Given the description of an element on the screen output the (x, y) to click on. 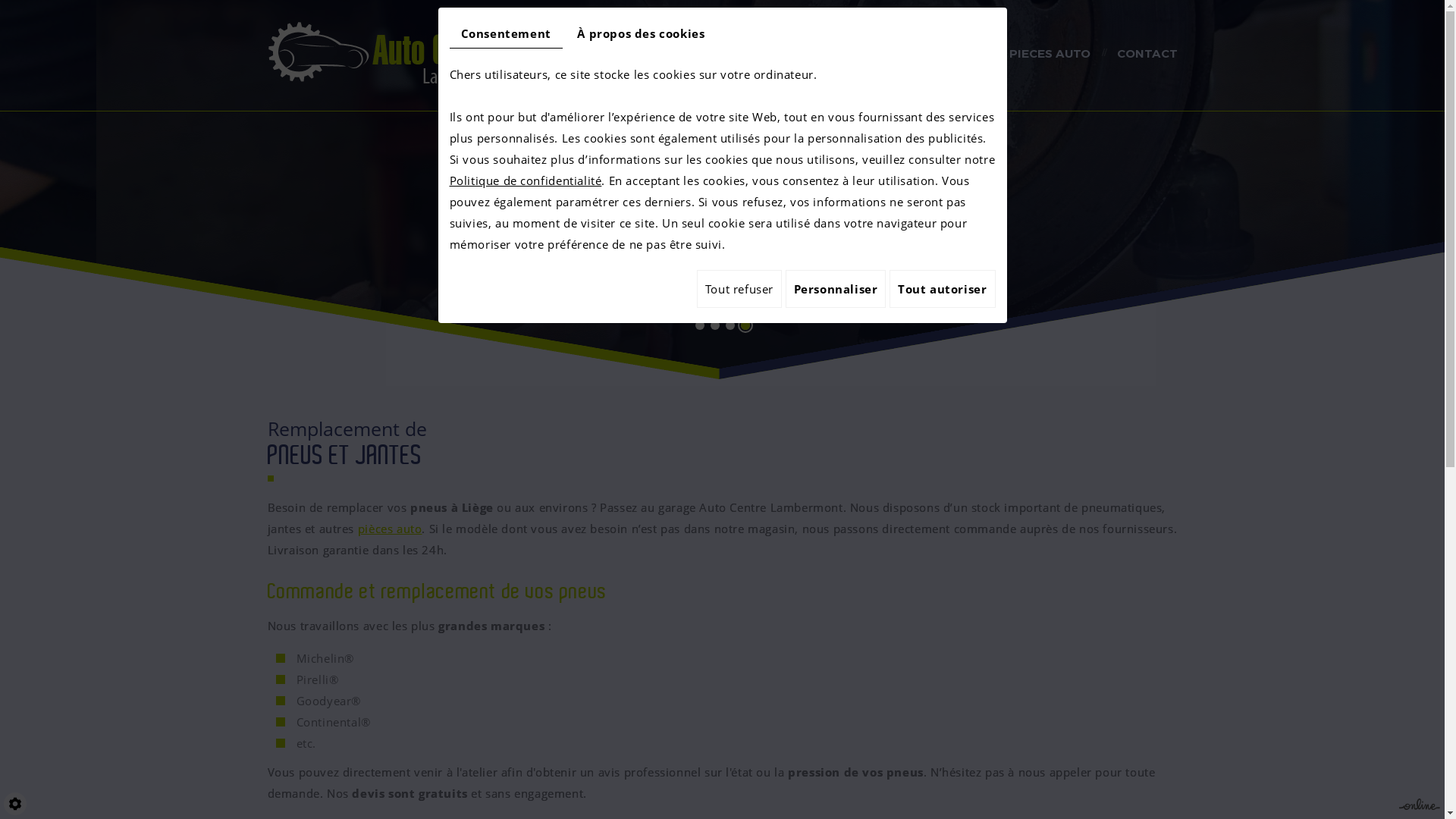
Tout refuser Element type: text (738, 288)
PNEUS Element type: text (898, 54)
VENTE DE PIECES AUTO Element type: text (1016, 54)
ACCUEIL Element type: text (663, 54)
04 263 92 85 Element type: text (722, 274)
Tout autoriser Element type: text (941, 288)
ENTRETIEN VOITURES Element type: text (782, 54)
CONTACT Element type: text (1146, 54)
Consentement Element type: text (504, 33)
Personnaliser Element type: text (835, 288)
